Given the description of an element on the screen output the (x, y) to click on. 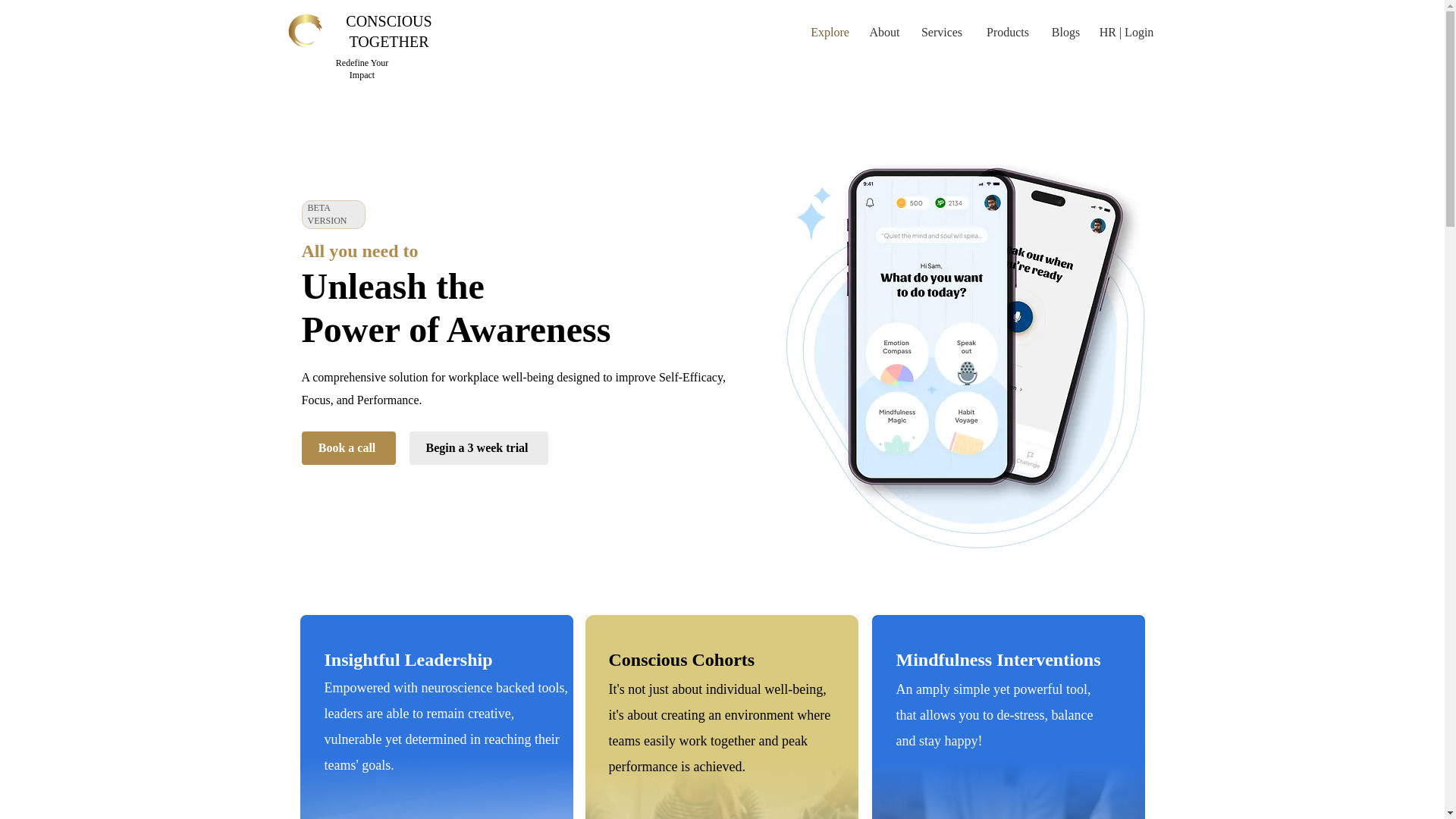
Blogs (1066, 32)
Services (942, 32)
Redefine Your Impact (362, 68)
Products (1007, 32)
CONSCIOUS TOGETHER (388, 31)
Explore (830, 32)
Begin a 3 week trial (478, 448)
Book a call (348, 448)
About (885, 32)
